Given the description of an element on the screen output the (x, y) to click on. 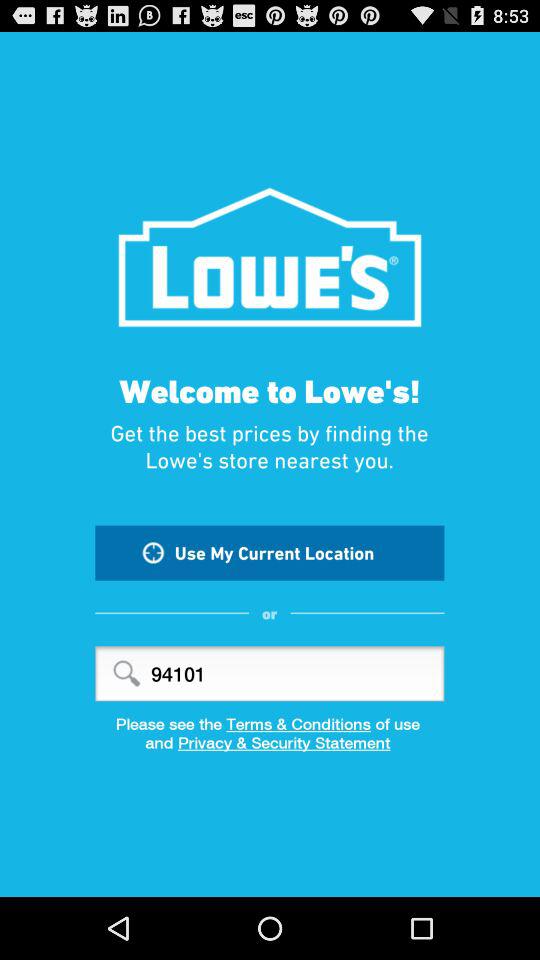
swipe until 94101 item (269, 673)
